Given the description of an element on the screen output the (x, y) to click on. 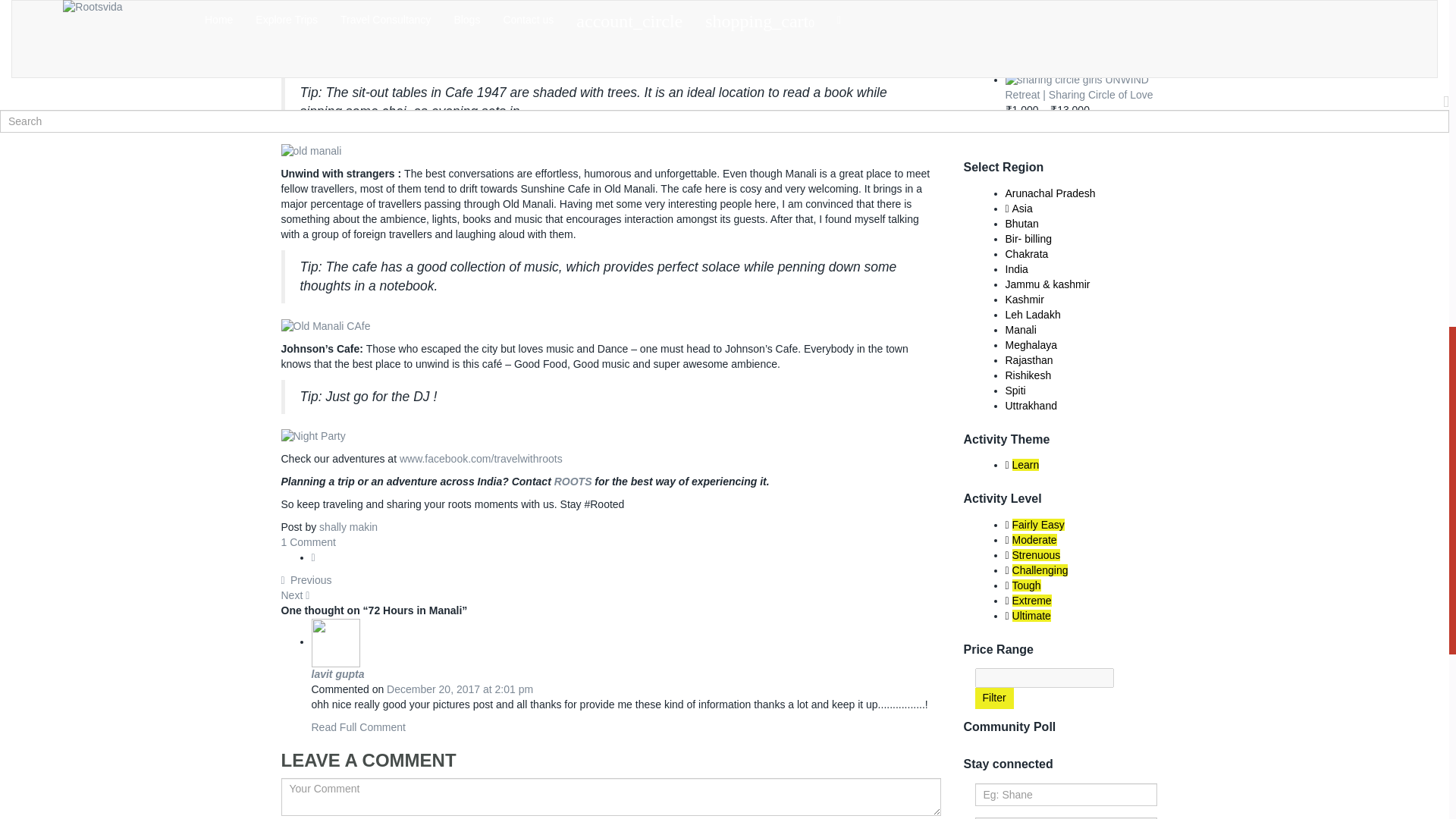
December 20, 2017 at 2:01 pm (459, 689)
Read Full Comment (358, 727)
1 Comment (307, 541)
lavit gupta (337, 674)
shally makin (347, 526)
Next   (296, 594)
ROOTS (573, 481)
Filter (994, 698)
  Previous (306, 580)
